Given the description of an element on the screen output the (x, y) to click on. 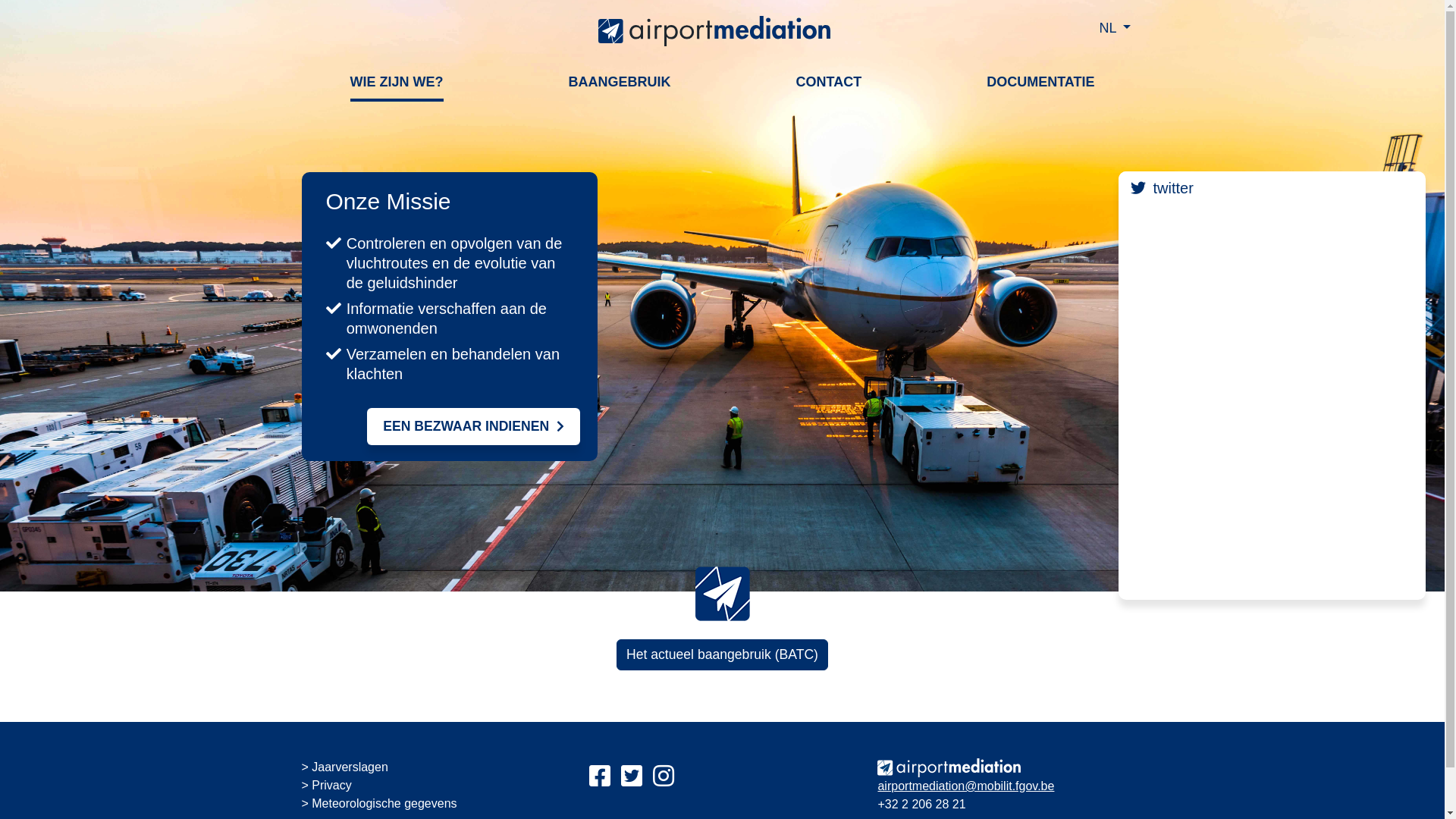
CONTACT Element type: text (829, 82)
EEN BEZWAAR INDIENEN Element type: text (473, 426)
NL Element type: text (1109, 28)
DOCUMENTATIE Element type: text (1040, 82)
Compte Instagram Element type: text (663, 776)
airportmediation@mobilit.fgov.be Element type: text (965, 785)
Compte Twitter Element type: text (631, 776)
> Meteorologische gegevens Element type: text (379, 803)
> Jaarverslagen Element type: text (344, 766)
BAANGEBRUIK Element type: text (619, 82)
Het actueel baangebruik (BATC) Element type: text (722, 654)
> Privacy Element type: text (326, 784)
Compte Facebook Element type: text (599, 776)
Het actueel baangebruik (BATC) Element type: text (722, 653)
WIE ZIJN WE? Element type: text (396, 82)
